Given the description of an element on the screen output the (x, y) to click on. 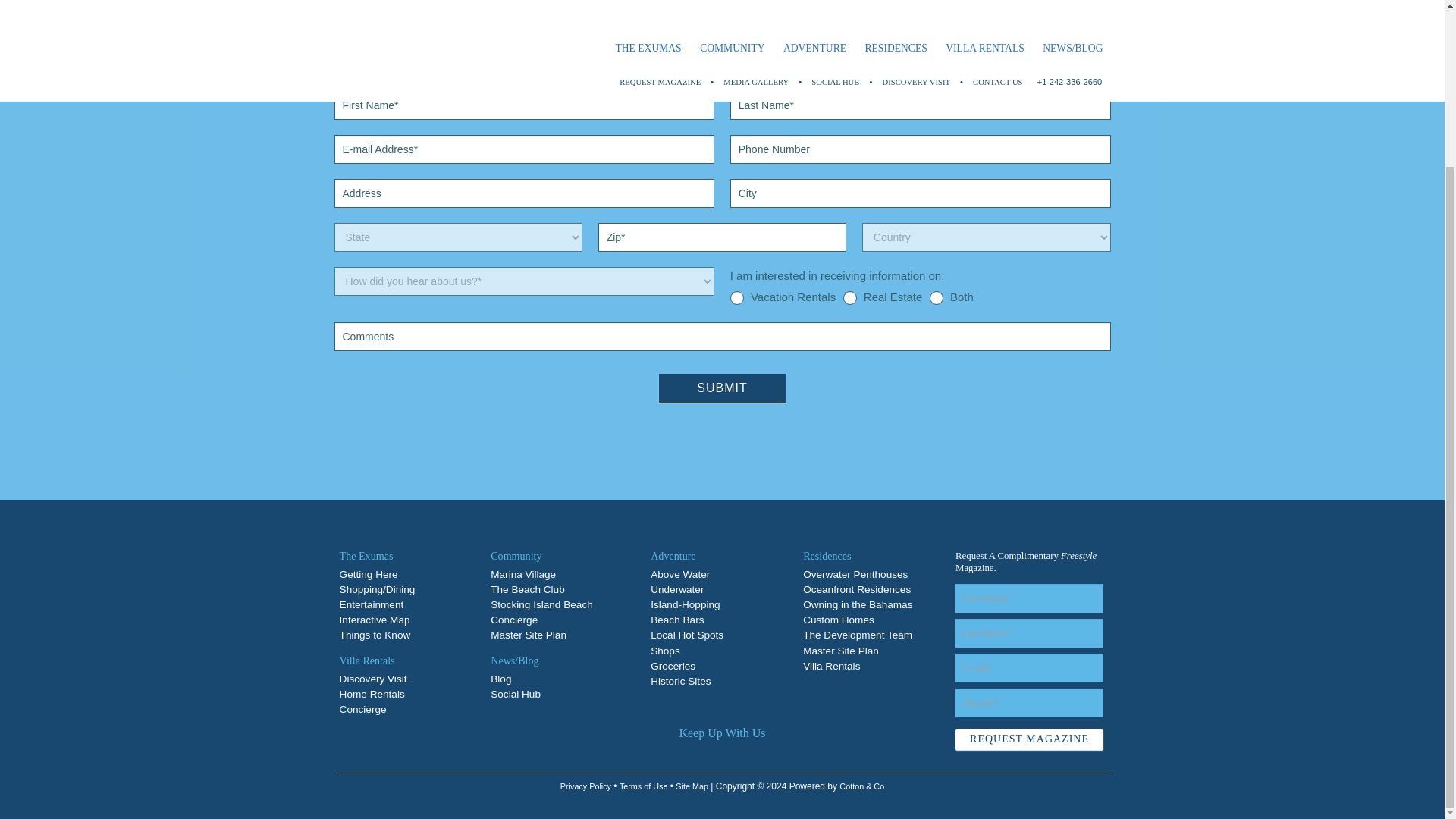
Real Estate (850, 297)
SUBMIT (721, 387)
REQUEST MAGAZINE (1029, 739)
Vacation Rentals (737, 297)
Both (936, 297)
